Given the description of an element on the screen output the (x, y) to click on. 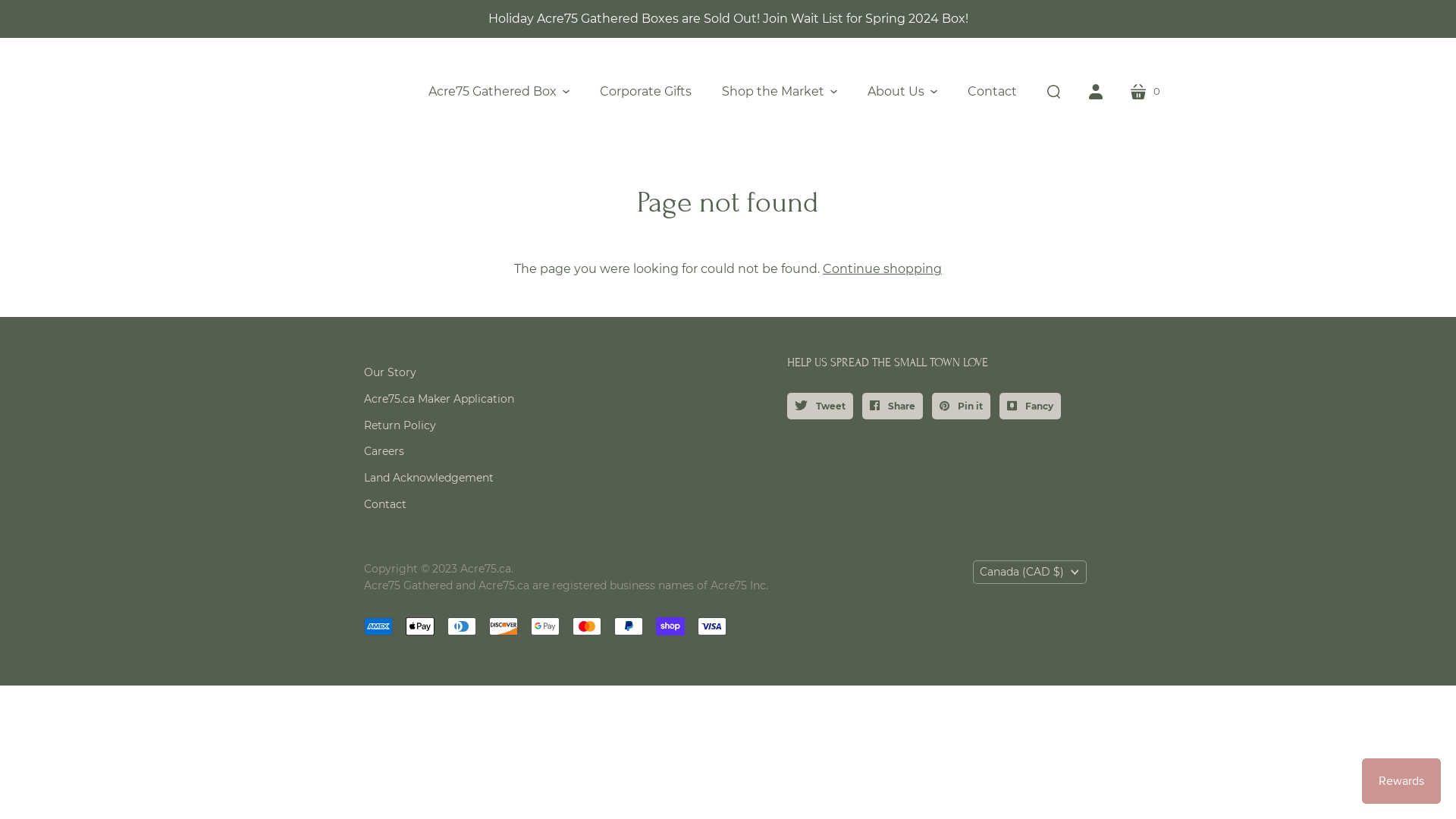
Corporate Gifts Element type: text (645, 91)
Acre75.ca Maker Application Element type: text (439, 398)
Contact Element type: text (385, 504)
Return Policy Element type: text (400, 425)
Canada (CAD $) Element type: text (1028, 571)
Contact Element type: text (992, 91)
Continue shopping Element type: text (881, 268)
Pin it Element type: text (960, 405)
cart
0 Element type: text (1144, 91)
Smile.io Rewards Program Launcher Element type: hover (1400, 780)
Land Acknowledgement Element type: text (428, 477)
account Element type: text (1095, 91)
Our Story Element type: text (390, 372)
Fancy Element type: text (1029, 405)
search Element type: text (1053, 91)
Careers Element type: text (384, 451)
Tweet Element type: text (820, 405)
Share Element type: text (892, 405)
